Given the description of an element on the screen output the (x, y) to click on. 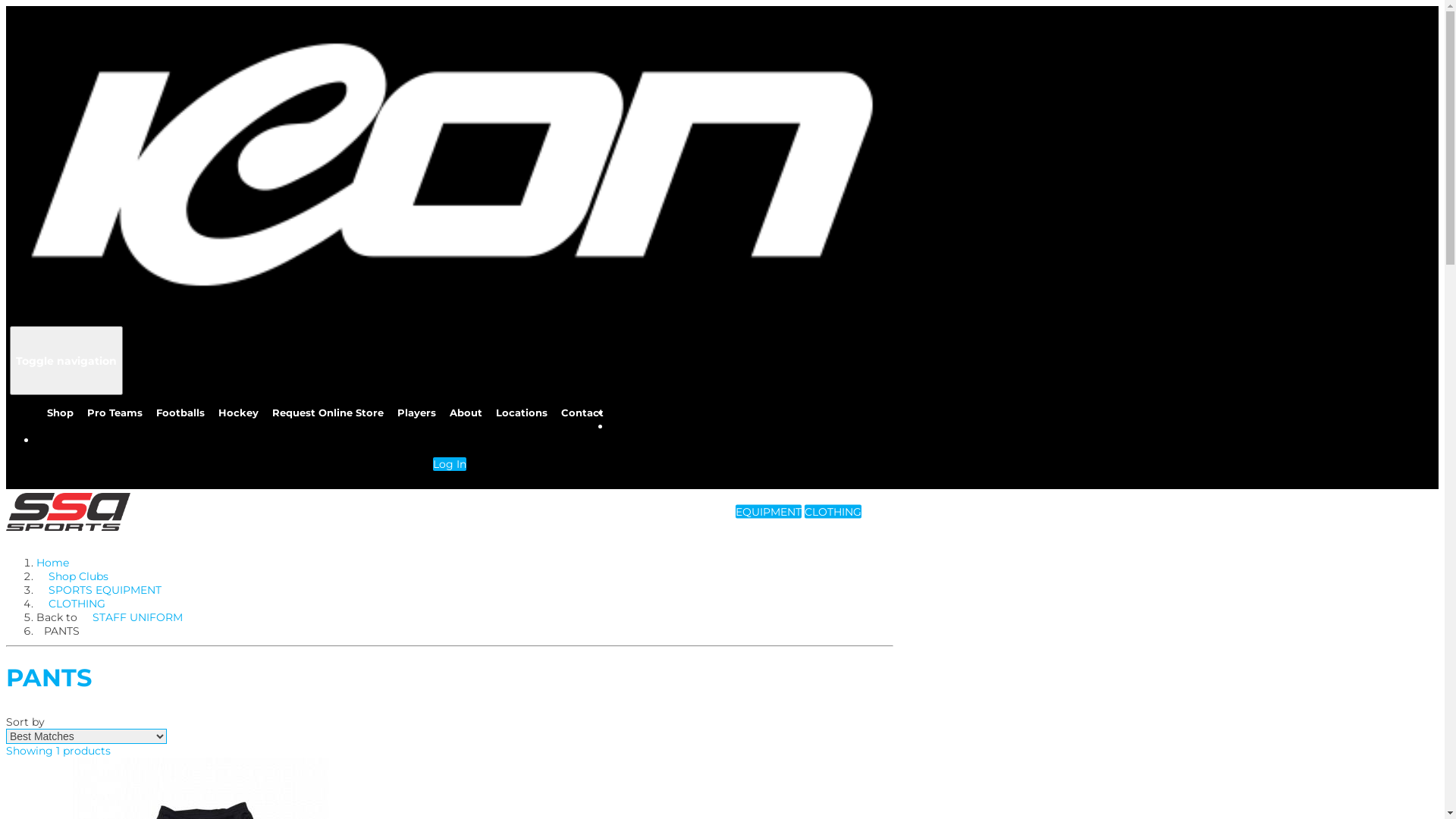
CLOTHING Element type: text (831, 511)
EQUIPMENT Element type: text (768, 511)
Shop Clubs Element type: text (78, 576)
STAFF UNIFORM Element type: text (137, 617)
Log In Element type: text (449, 463)
Shop Element type: text (60, 413)
Locations Element type: text (521, 413)
Hockey Element type: text (238, 413)
Contact Element type: text (582, 413)
SPORTS EQUIPMENT Element type: text (104, 589)
Toggle navigation Element type: text (65, 360)
Showing 1 products Element type: text (58, 750)
Request Online Store Element type: text (327, 413)
About Element type: text (465, 413)
Footballs Element type: text (180, 413)
Home Element type: text (52, 562)
CLOTHING Element type: text (76, 603)
Players Element type: text (416, 413)
Pro Teams Element type: text (114, 413)
